Given the description of an element on the screen output the (x, y) to click on. 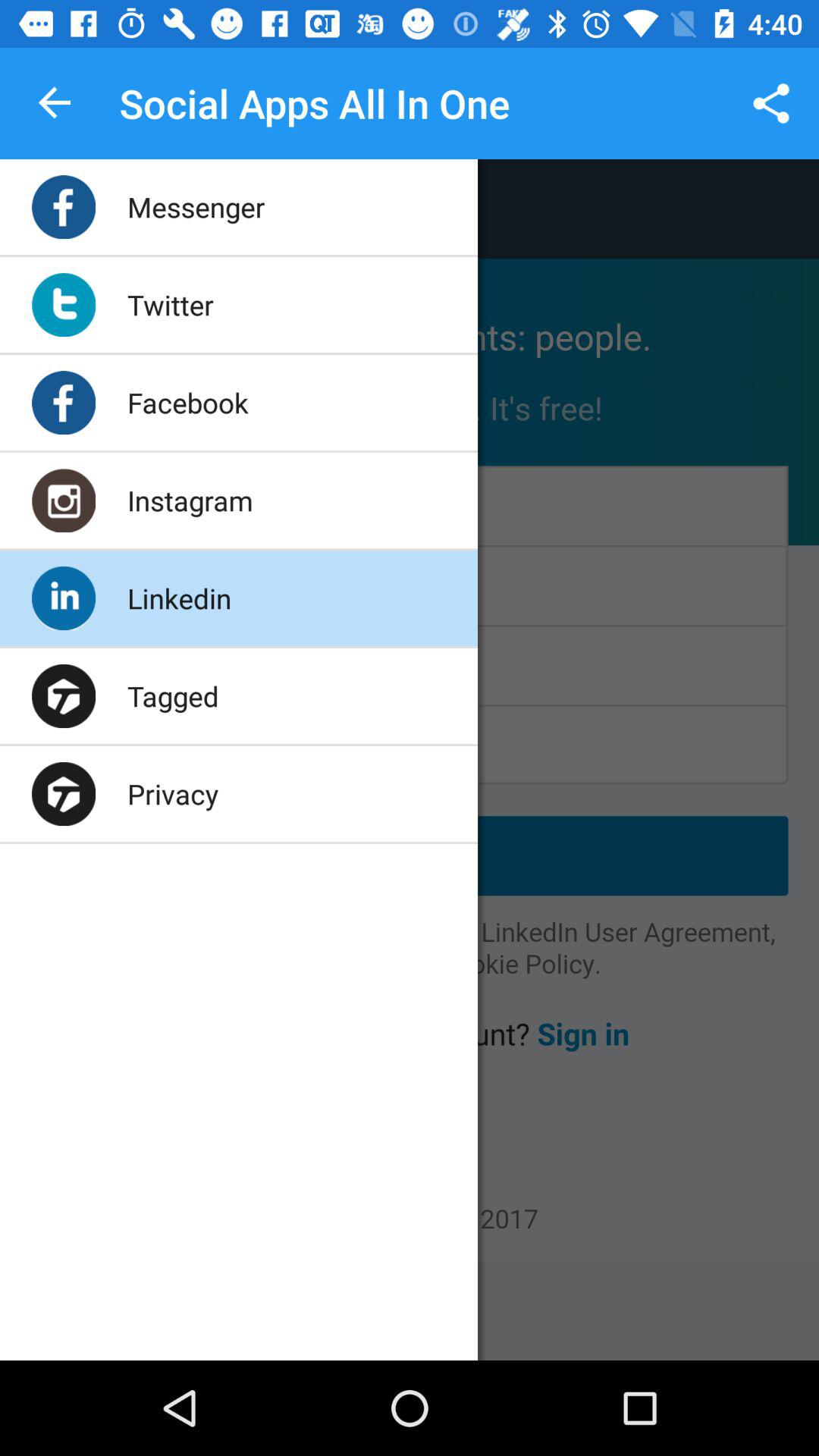
turn off item below instagram (179, 598)
